Given the description of an element on the screen output the (x, y) to click on. 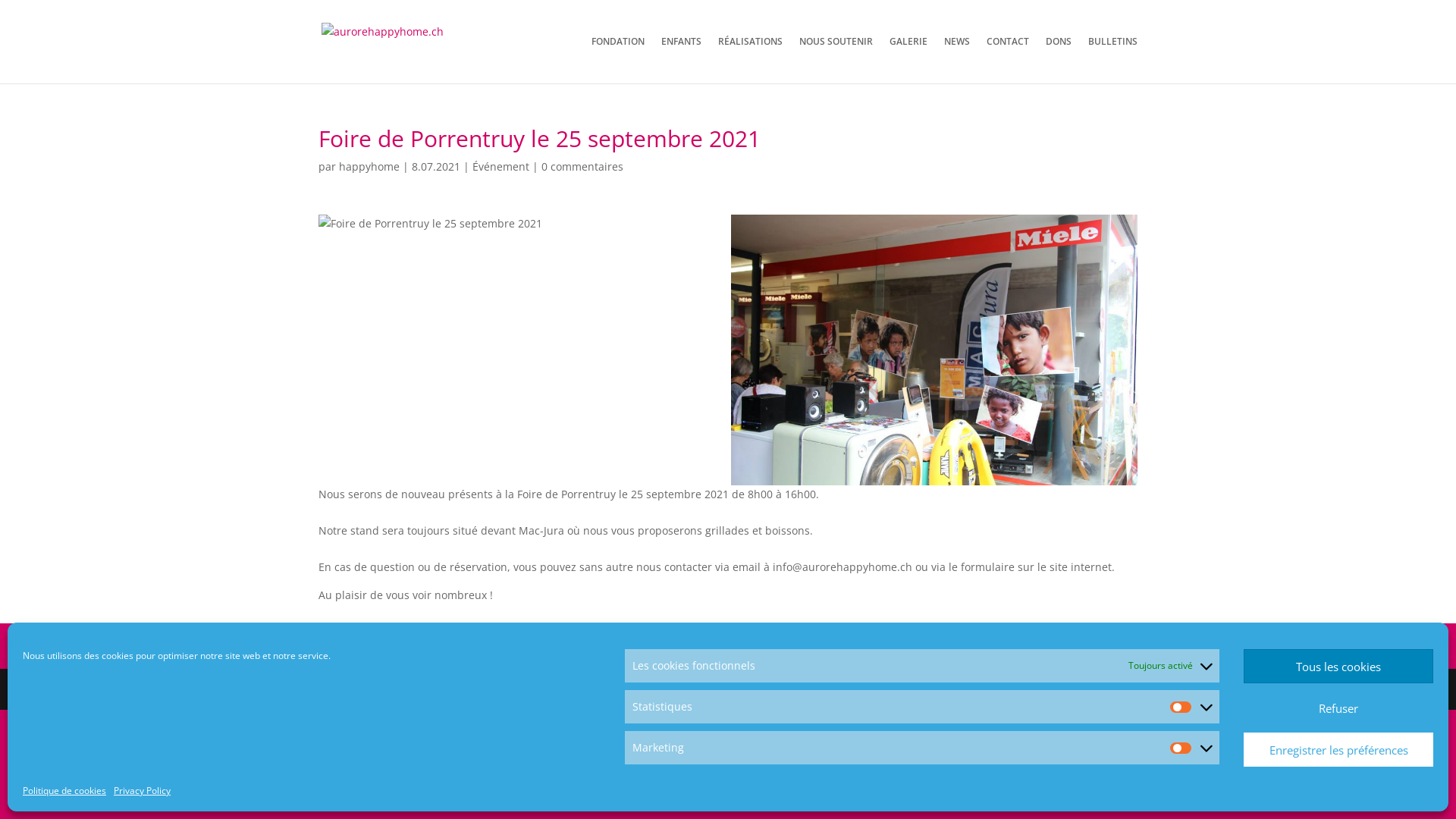
Politique de cookies Element type: text (64, 790)
Privacy Policy Element type: text (141, 790)
steval-consulting Element type: text (440, 688)
CONTACT Element type: text (1007, 59)
0 commentaires Element type: text (582, 166)
NOUS SOUTENIR Element type: text (835, 59)
happyhome Element type: text (368, 166)
DONS Element type: text (1058, 59)
NEWS Element type: text (956, 59)
BULLETINS Element type: text (1112, 59)
FONDATION Element type: text (617, 59)
ENFANTS Element type: text (681, 59)
Tous les cookies Element type: text (1338, 666)
GALERIE Element type: text (908, 59)
Refuser Element type: text (1338, 707)
